Given the description of an element on the screen output the (x, y) to click on. 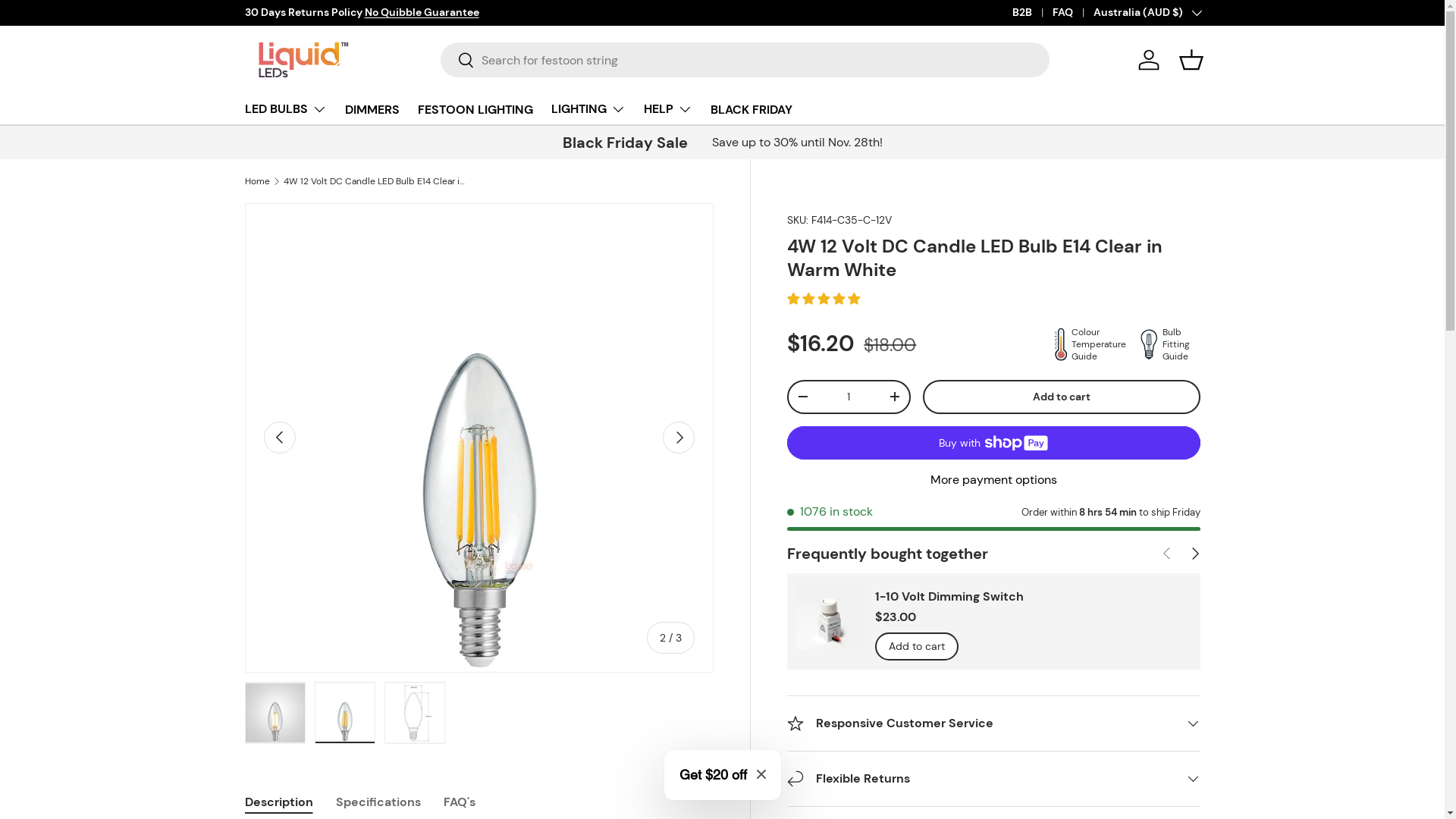
Log in Element type: text (1147, 59)
- Element type: text (802, 396)
Skip to content Element type: text (68, 21)
DIMMERS Element type: text (371, 109)
LIGHTING Element type: text (587, 109)
4W 12 Volt DC Candle LED Bulb E14 Clear in Warm White Element type: text (374, 180)
Basket Element type: text (1190, 59)
Previous Element type: text (1165, 553)
Load image 3 in gallery view Element type: text (413, 712)
HELP Element type: text (667, 109)
BLACK FRIDAY Element type: text (750, 109)
Australia (AUD $) Element type: text (1146, 12)
1-10 Volt Dimming Switch Element type: text (949, 596)
No Quibble Guarantee Element type: text (421, 11)
+ Element type: text (894, 396)
FAQ Element type: text (1072, 12)
LED BULBS Element type: text (285, 109)
Next Element type: text (1193, 553)
B2B Element type: text (1031, 12)
Add to cart Element type: text (1061, 396)
Home Element type: text (256, 180)
Search Element type: text (457, 60)
Bulb Fitting Guide Element type: text (1165, 344)
Load image 1 in gallery view Element type: text (274, 712)
Load image 2 in gallery view Element type: text (343, 712)
More payment options Element type: text (993, 479)
Next Element type: text (678, 437)
FESTOON LIGHTING Element type: text (474, 109)
Add to cart Element type: text (916, 646)
Colour Temperature Guide Element type: text (1085, 344)
Add to cart Element type: text (1353, 646)
Previous Element type: text (279, 437)
